Given the description of an element on the screen output the (x, y) to click on. 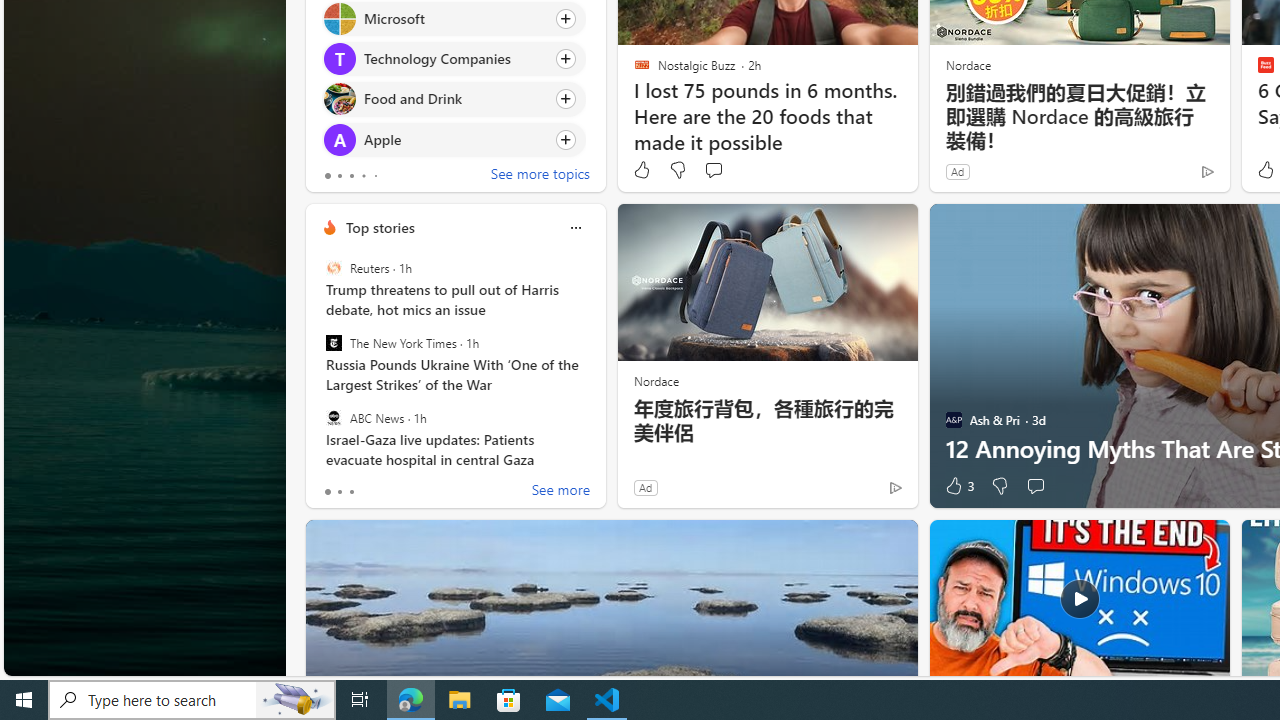
tab-1 (338, 491)
Food and Drink (338, 98)
Start the conversation (1035, 485)
Like (641, 170)
Reuters (333, 268)
The New York Times (333, 343)
Click to follow topic Apple (453, 138)
See more topics (540, 175)
tab-2 (351, 491)
Click to follow topic Food and Drink (453, 99)
Class: icon-img (575, 228)
